Given the description of an element on the screen output the (x, y) to click on. 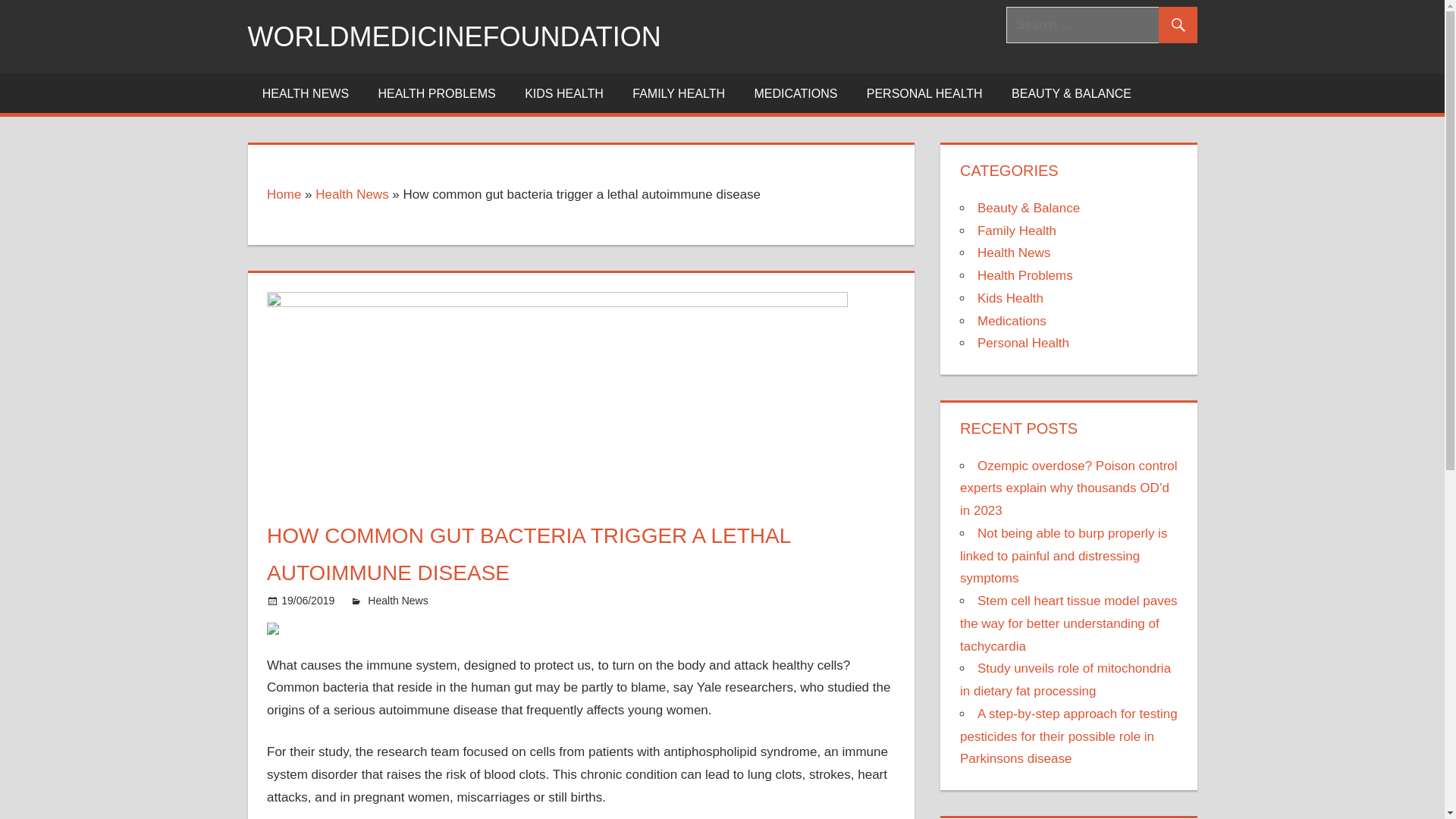
Home (283, 194)
HEALTH NEWS (304, 93)
Personal Health (1022, 342)
Search for: (1101, 24)
Health Problems (1024, 275)
Health News (351, 194)
MEDICATIONS (795, 93)
8:37 pm (307, 600)
PERSONAL HEALTH (924, 93)
HEALTH PROBLEMS (436, 93)
FAMILY HEALTH (678, 93)
KIDS HEALTH (564, 93)
Medications (1011, 320)
